Given the description of an element on the screen output the (x, y) to click on. 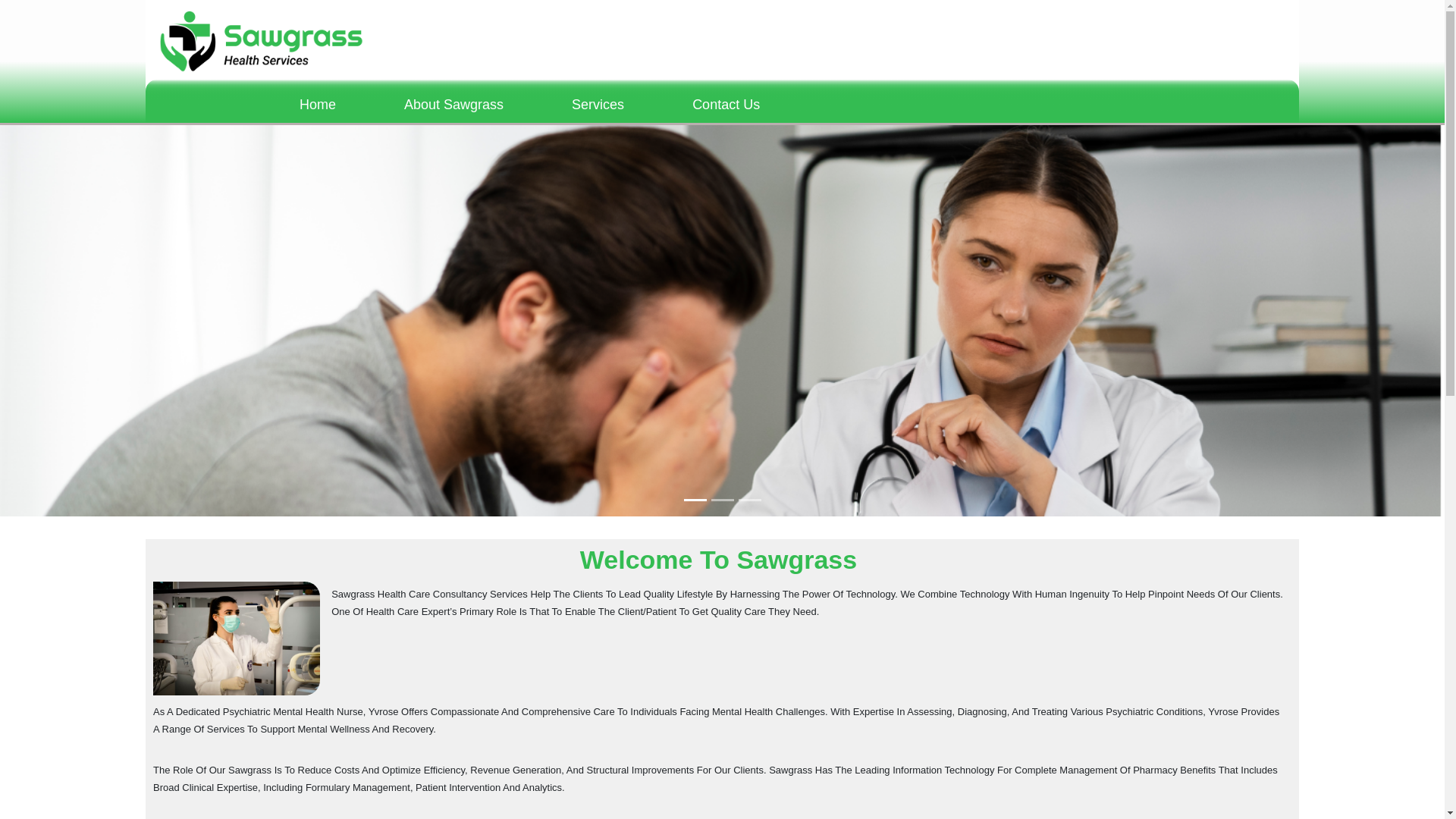
Home (317, 104)
Contact Us (725, 104)
Services (597, 104)
About Sawgrass (453, 104)
